Given the description of an element on the screen output the (x, y) to click on. 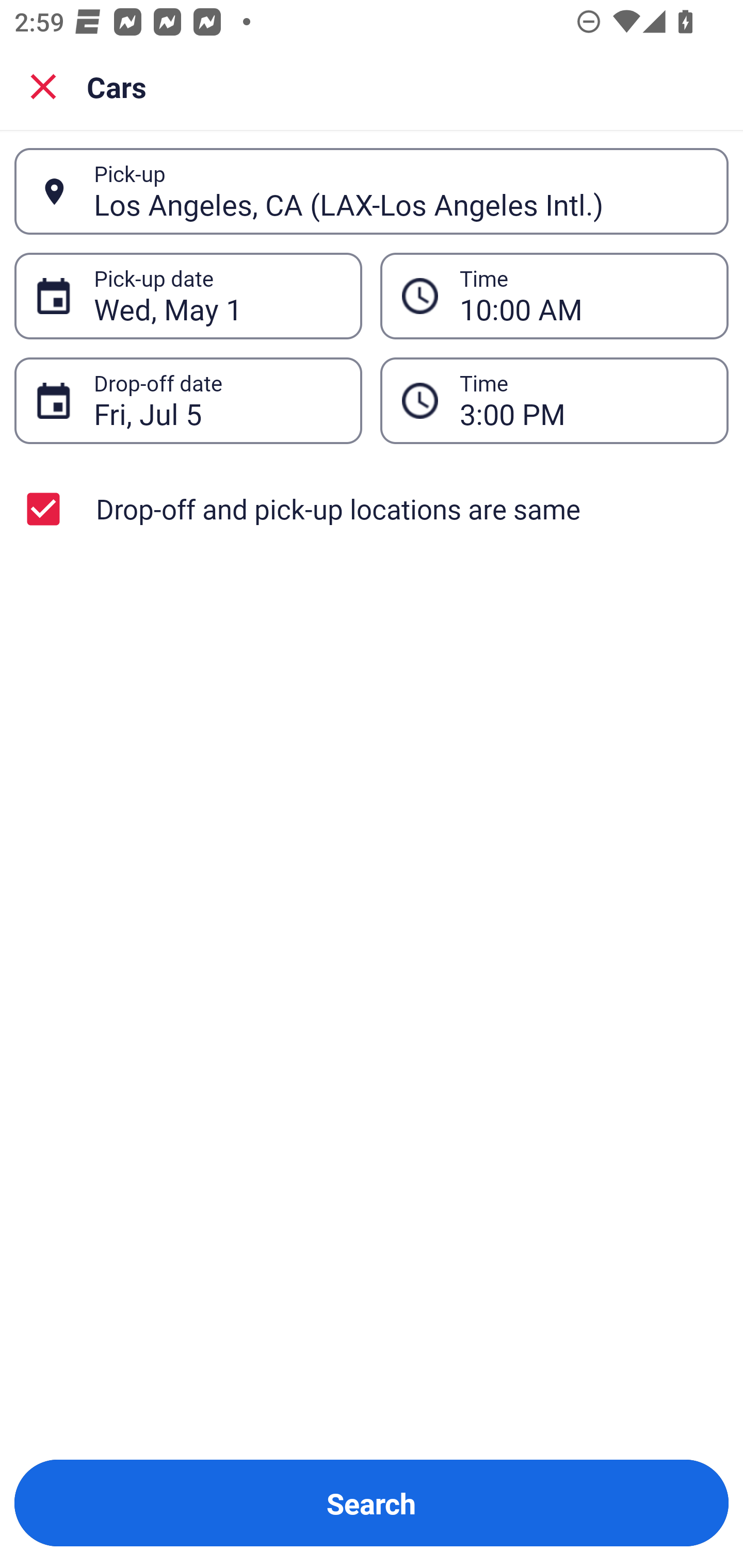
Close search screen (43, 86)
Los Angeles, CA (LAX-Los Angeles Intl.) Pick-up (371, 191)
Los Angeles, CA (LAX-Los Angeles Intl.) (399, 191)
Wed, May 1 Pick-up date (188, 295)
10:00 AM (554, 295)
Wed, May 1 (216, 296)
10:00 AM (582, 296)
Fri, Jul 5 Drop-off date (188, 400)
3:00 PM (554, 400)
Fri, Jul 5 (216, 400)
3:00 PM (582, 400)
Drop-off and pick-up locations are same (371, 508)
Search Button Search (371, 1502)
